Given the description of an element on the screen output the (x, y) to click on. 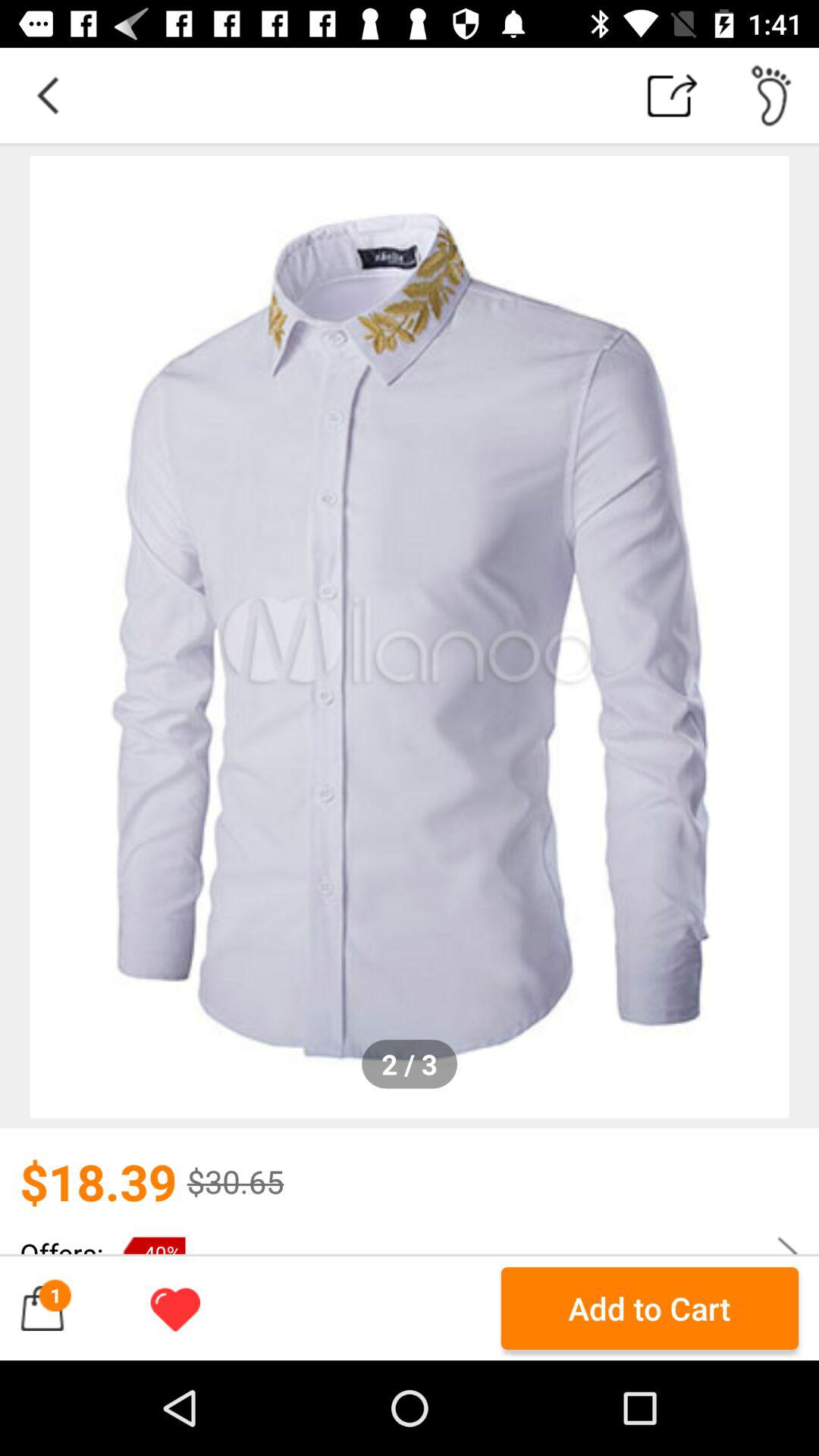
go back (47, 95)
